Given the description of an element on the screen output the (x, y) to click on. 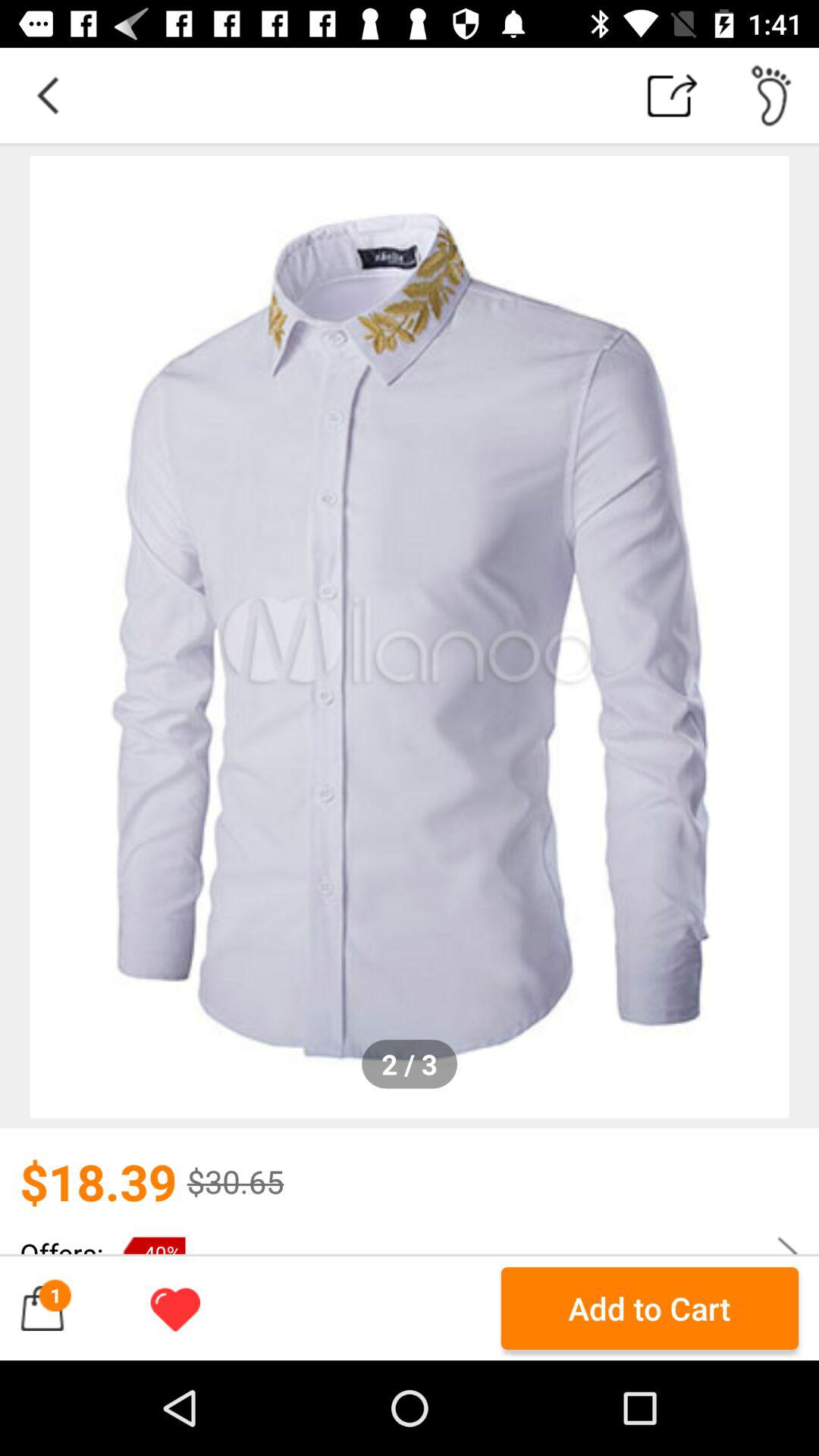
go back (47, 95)
